Given the description of an element on the screen output the (x, y) to click on. 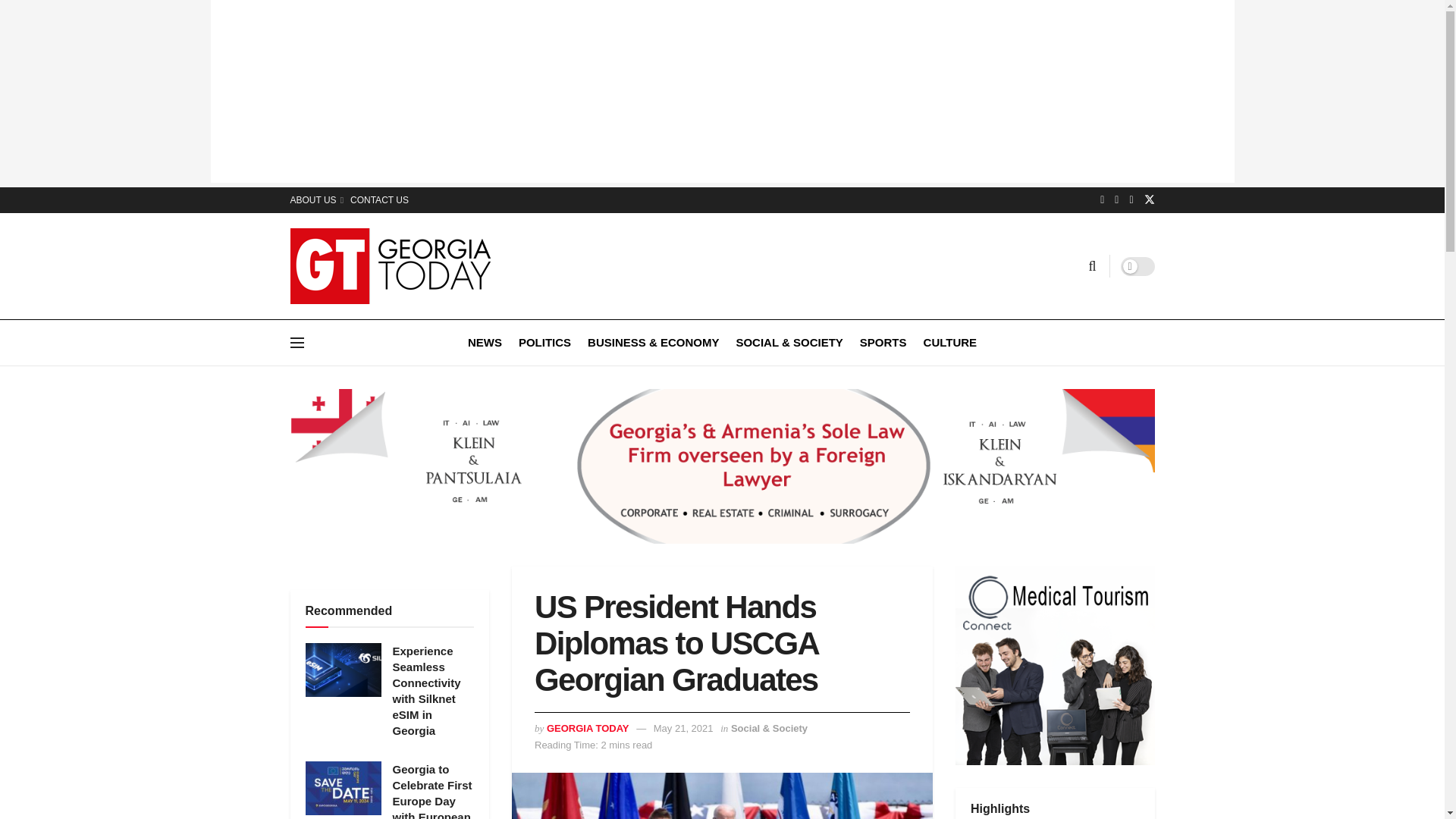
CONTACT US (379, 199)
POLITICS (544, 341)
NEWS (484, 341)
GEORGIA TODAY (587, 727)
CULTURE (949, 341)
ABOUT US (314, 199)
SPORTS (883, 341)
May 21, 2021 (683, 727)
